Given the description of an element on the screen output the (x, y) to click on. 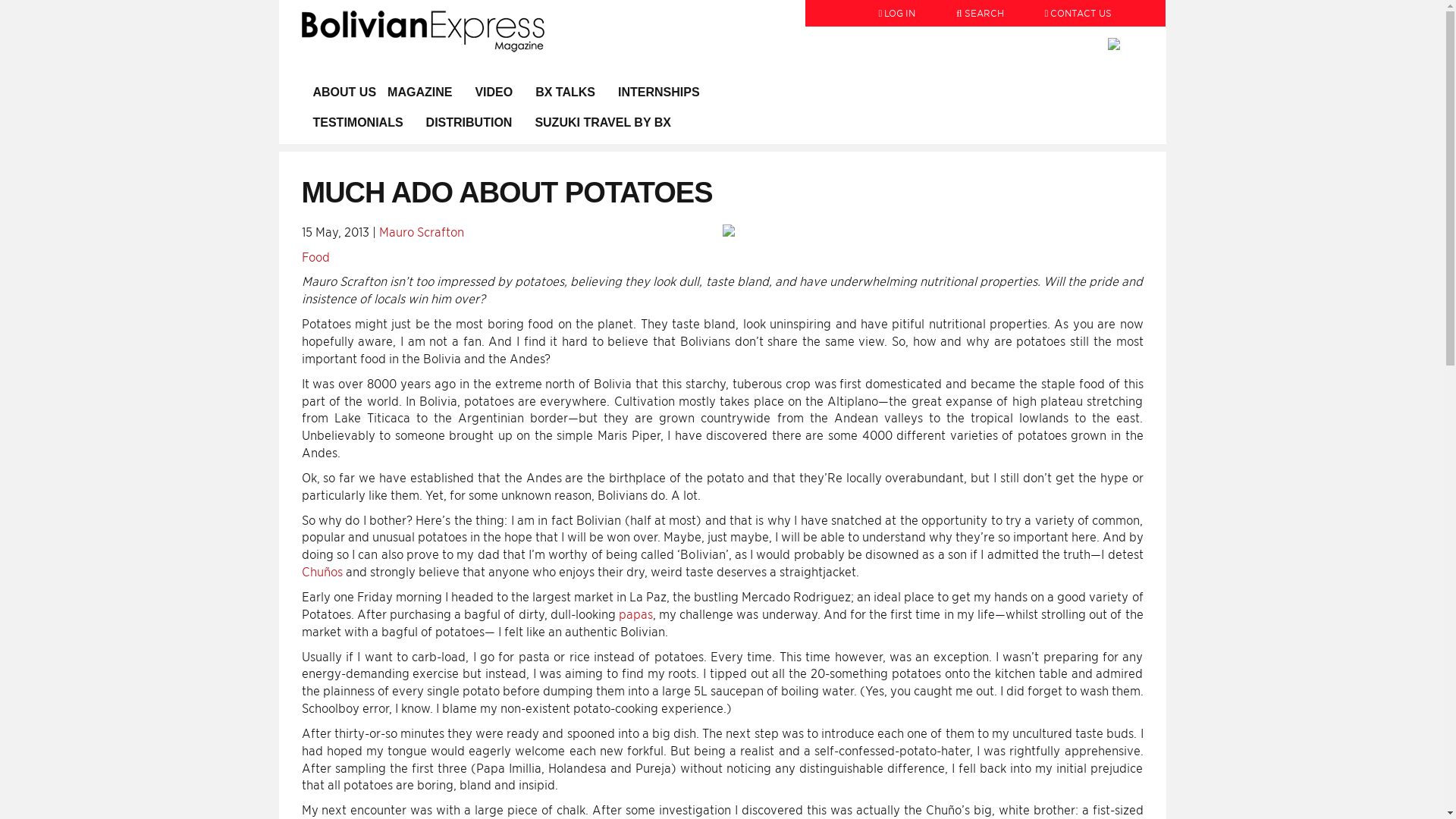
SUZUKI TRAVEL BY BX (602, 122)
LOG IN (897, 6)
MAGAZINE (425, 91)
TESTIMONIALS (357, 122)
BX TALKS (565, 91)
CONTACT US (1069, 6)
Mauro Scrafton (421, 232)
DISTRIBUTION (469, 122)
SEARCH (979, 6)
Food (315, 257)
